Given the description of an element on the screen output the (x, y) to click on. 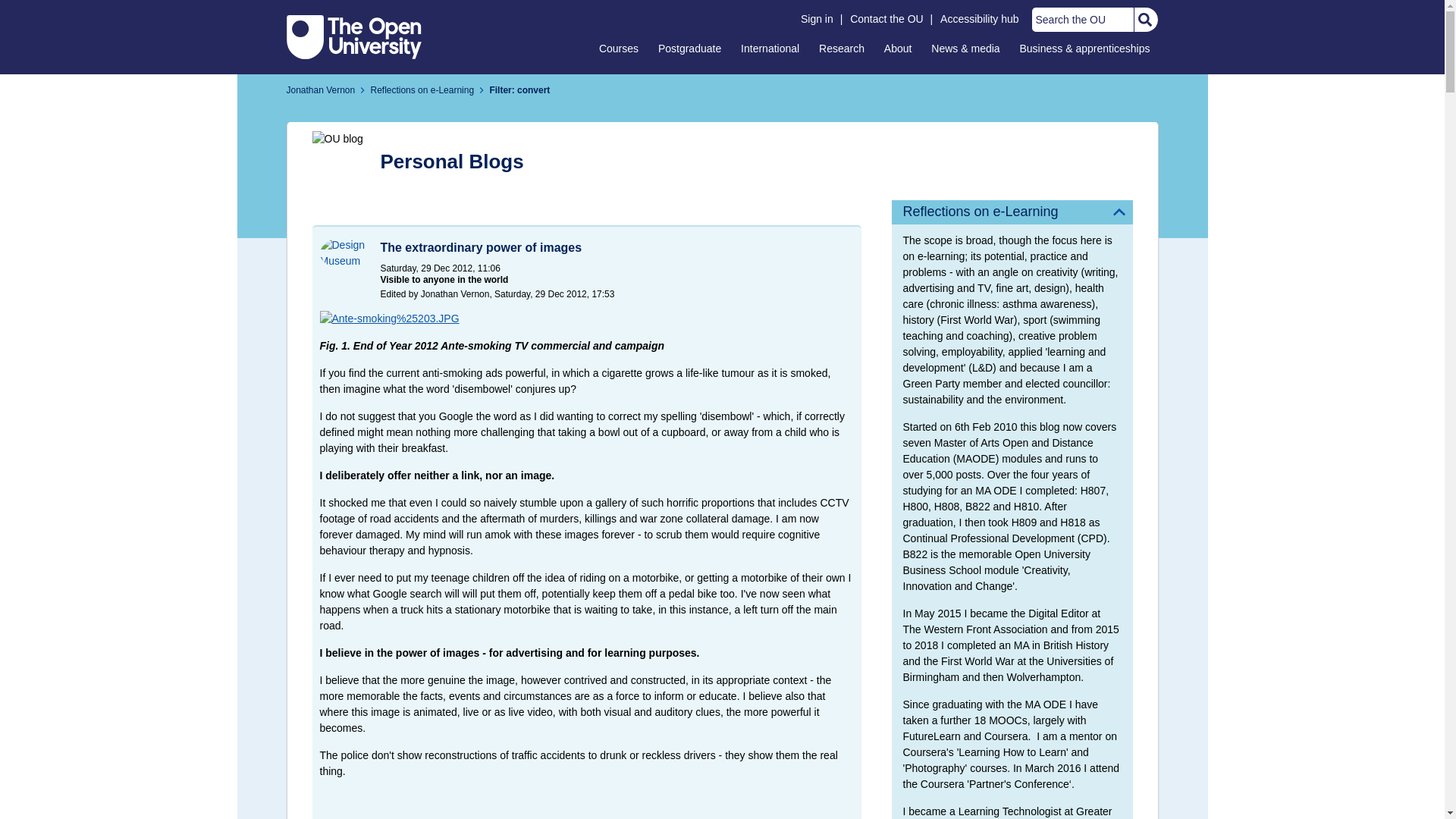
Courses (618, 48)
The Open University (354, 36)
Accessibility hub (979, 19)
Search (1144, 19)
About (898, 48)
International (770, 48)
Reflections on e-Learning (1011, 211)
Search (1144, 19)
Research (841, 48)
